Given the description of an element on the screen output the (x, y) to click on. 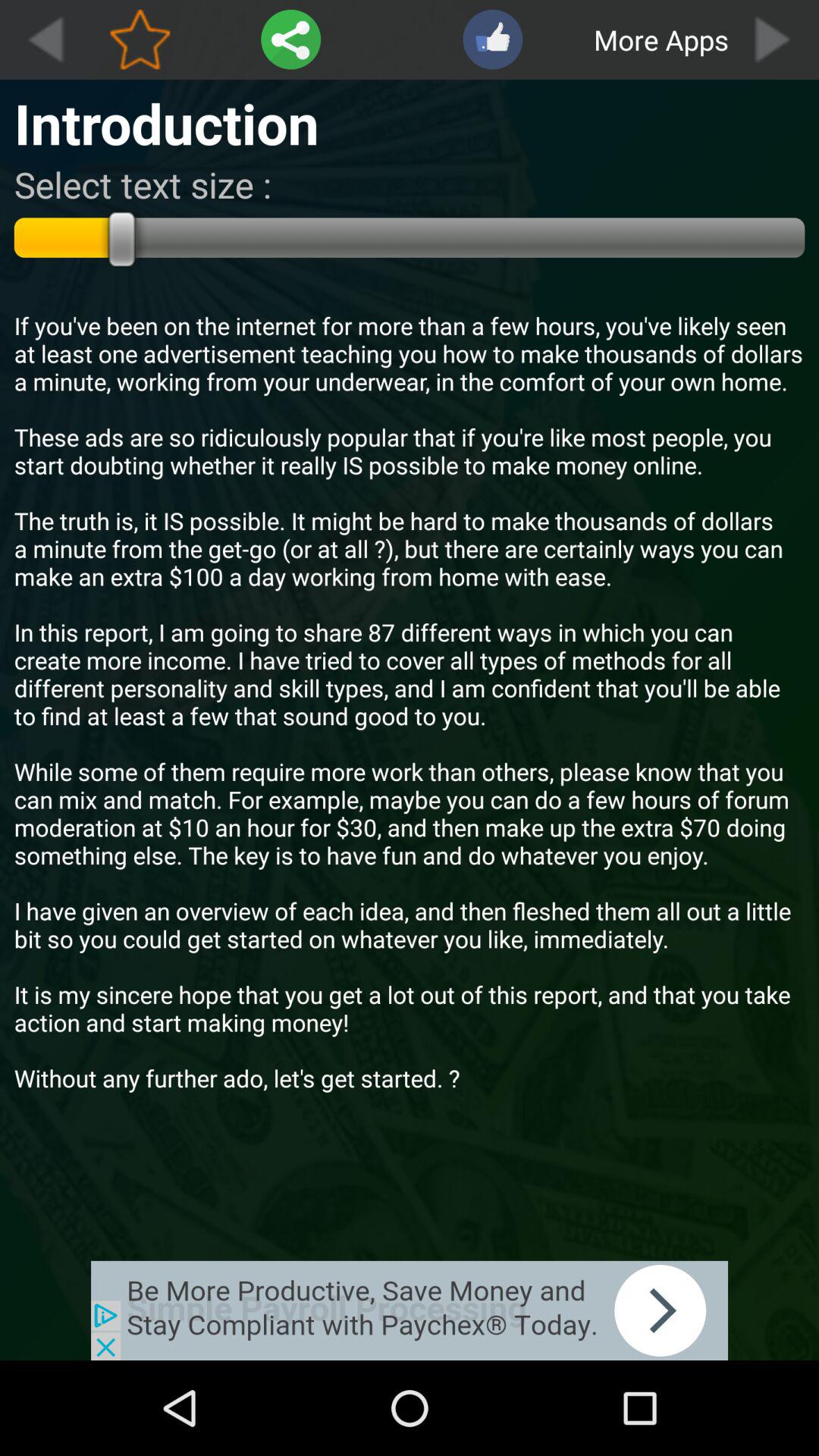
go to setting (290, 39)
